Given the description of an element on the screen output the (x, y) to click on. 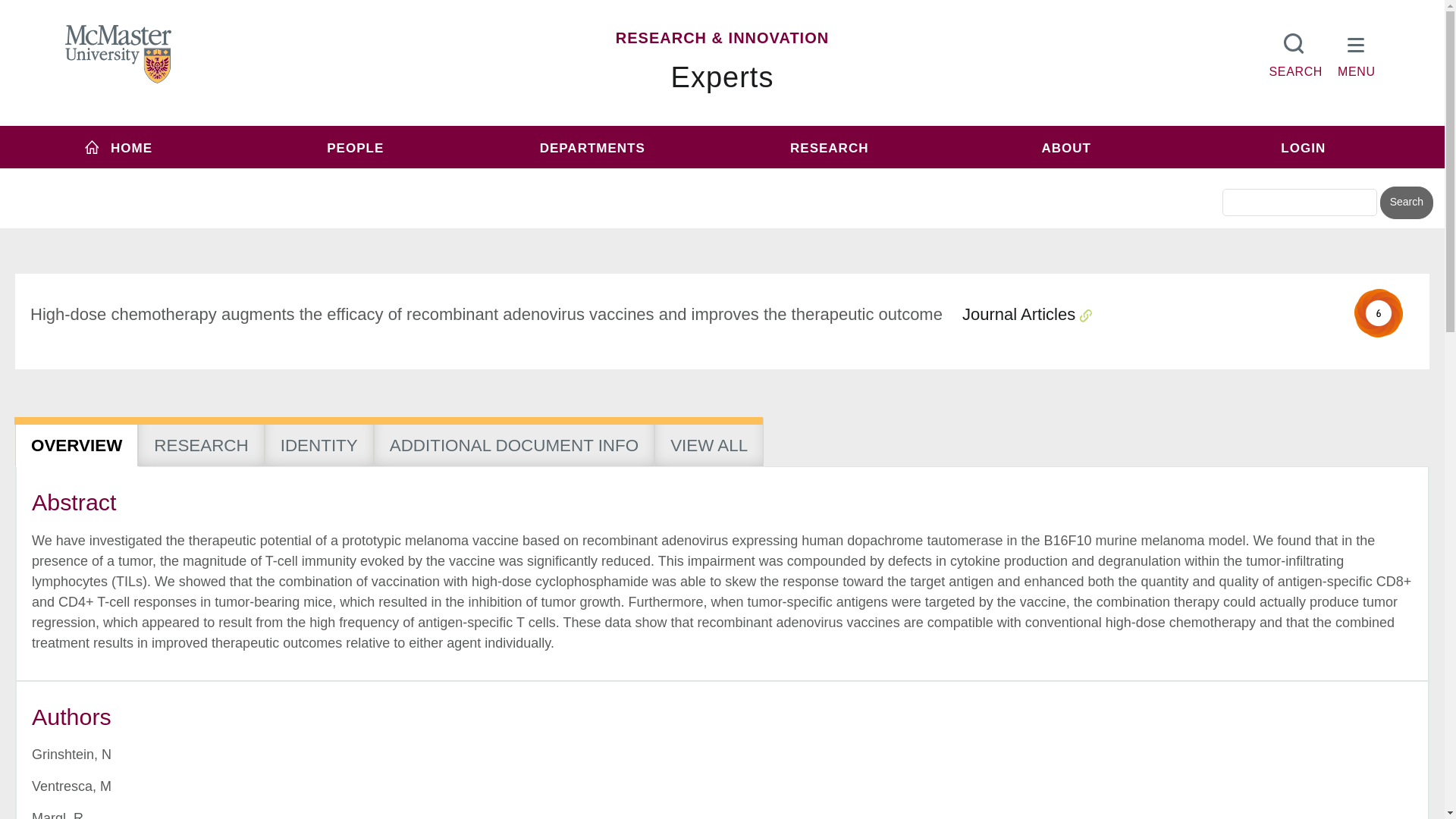
McMaster Univeristy Logo (118, 54)
SEARCH (1295, 51)
Departments menu item (592, 147)
MENU (1356, 51)
inurl:mcmaster.ca (829, 175)
Research menu item (829, 147)
About menu item (1066, 147)
Search (1406, 202)
Home menu item (118, 147)
People menu item (355, 147)
inurl:experts.mcmaster.ca (601, 175)
MCMASTER LOGO (118, 54)
Experts (722, 77)
